Given the description of an element on the screen output the (x, y) to click on. 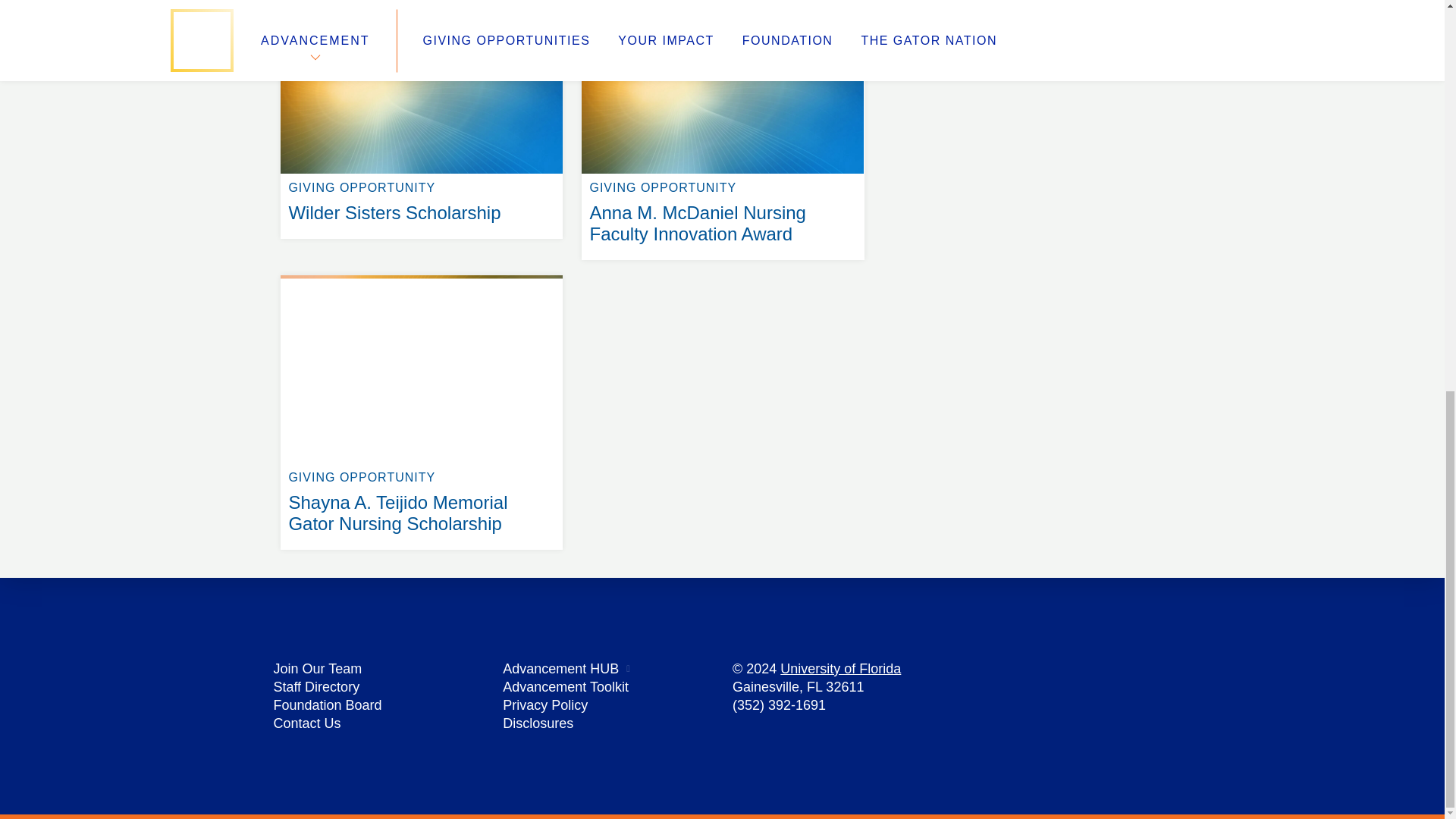
Advancement HUB (560, 668)
Foundation Board (327, 704)
Join Our Team (317, 668)
Staff Directory (316, 686)
Disclosures (537, 723)
Privacy Policy (545, 704)
University of Florida (840, 668)
Advancement Toolkit (565, 686)
Contact Us (306, 723)
